Given the description of an element on the screen output the (x, y) to click on. 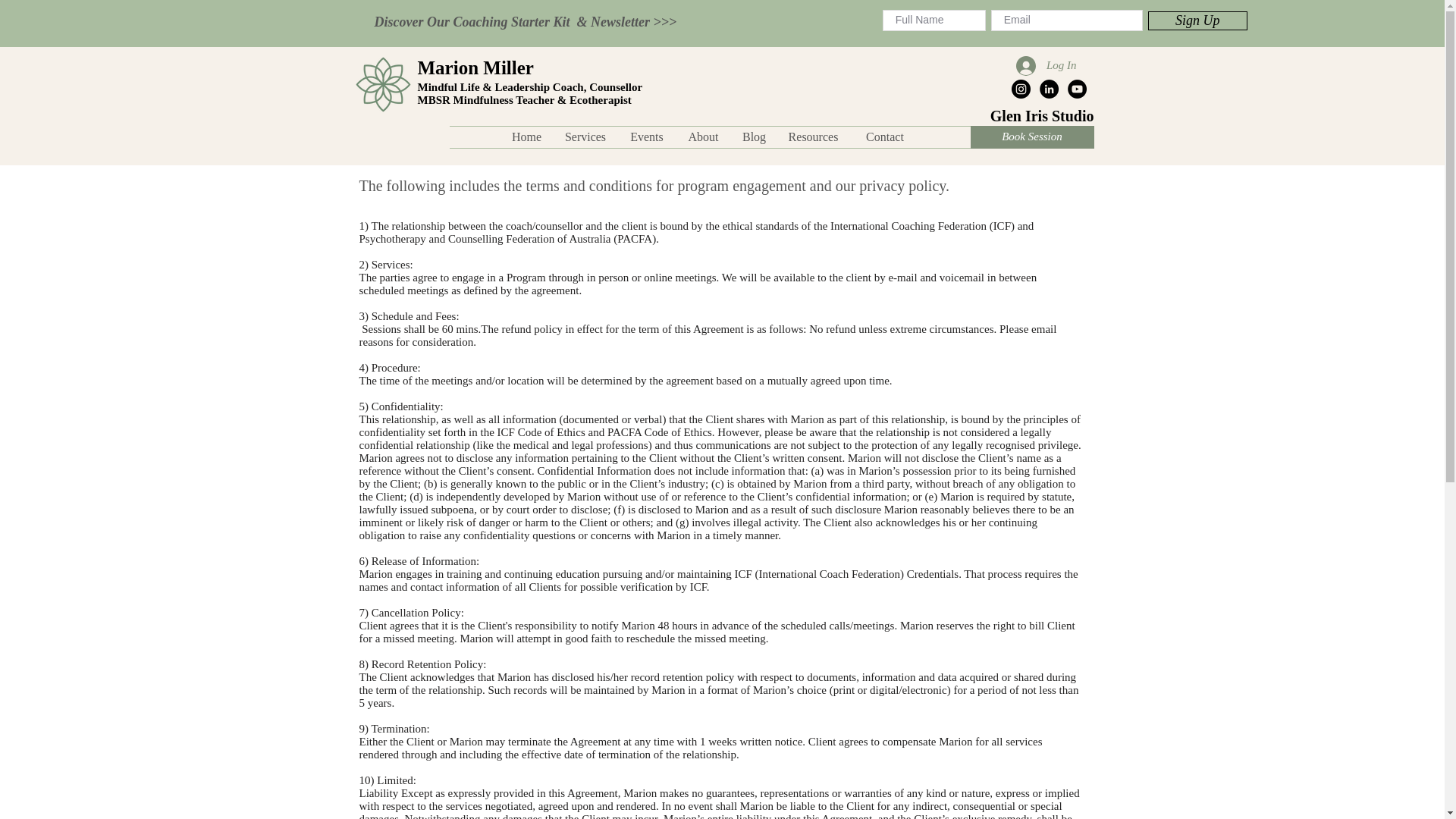
Log In (1046, 65)
Book Session (1032, 137)
Events (646, 137)
Resources (813, 137)
Home (526, 137)
Blog (753, 137)
Sign Up (1197, 20)
Contact (884, 137)
About (702, 137)
